Given the description of an element on the screen output the (x, y) to click on. 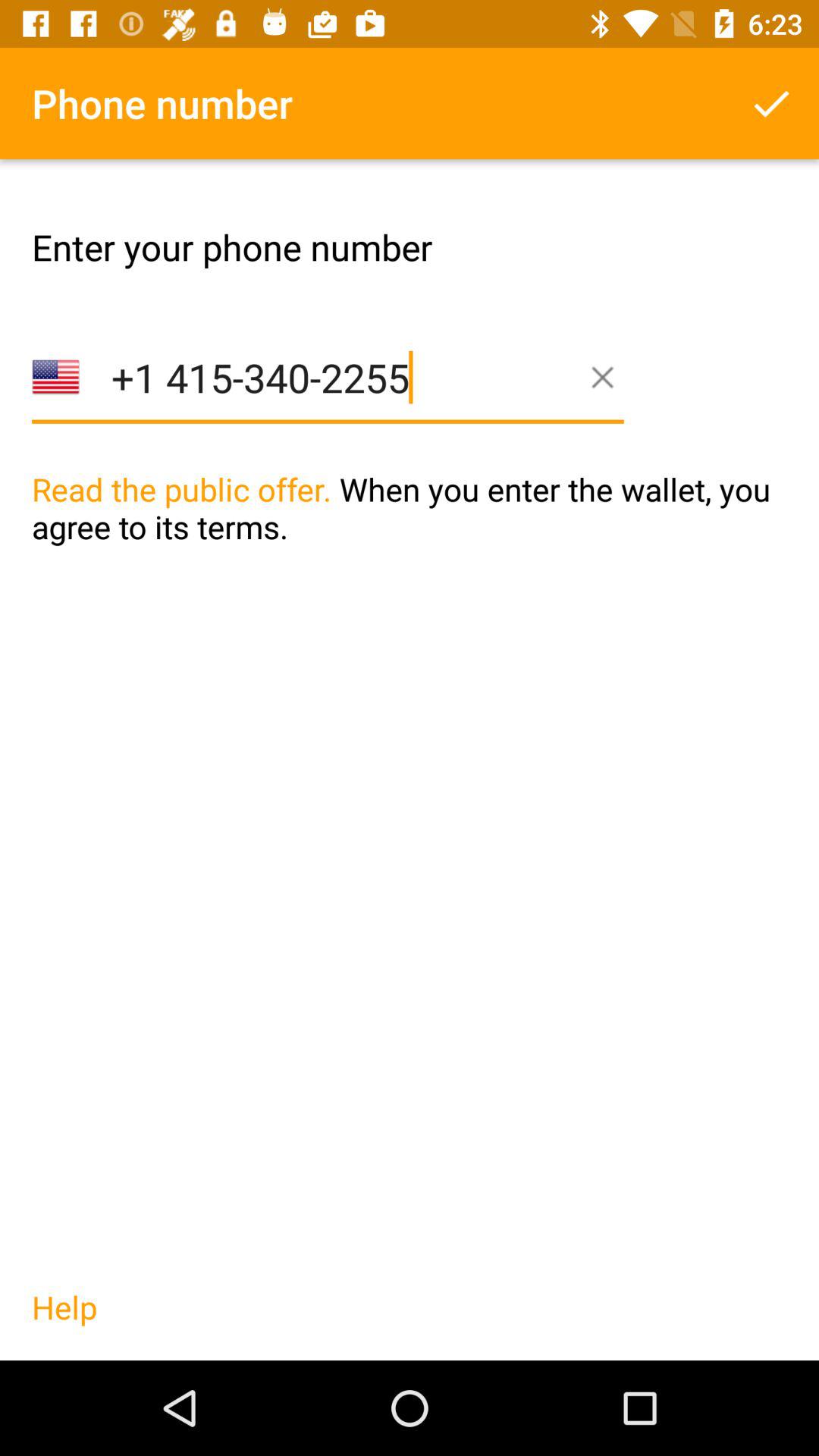
save phone number (771, 103)
